Given the description of an element on the screen output the (x, y) to click on. 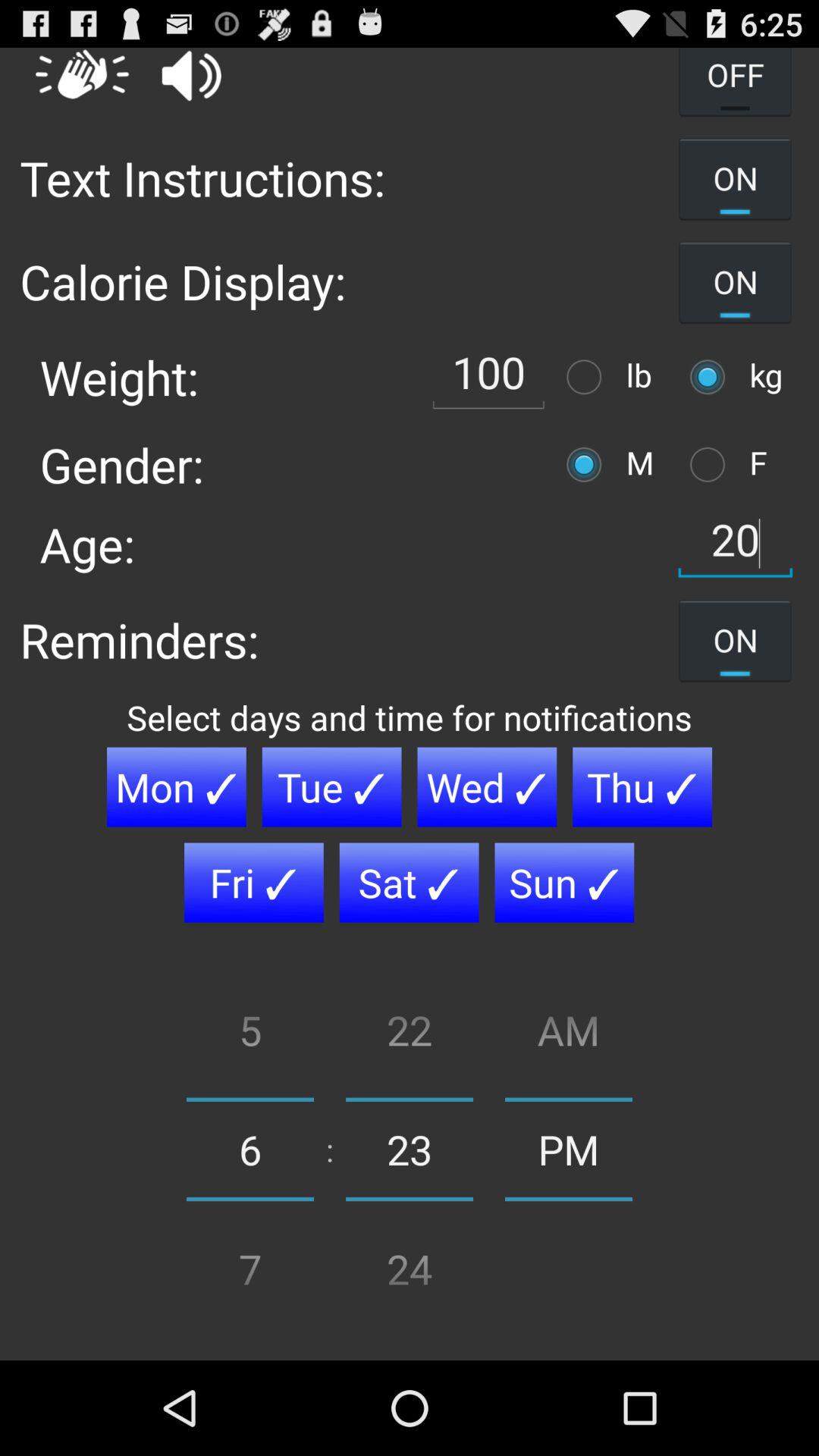
gender selection (587, 464)
